Given the description of an element on the screen output the (x, y) to click on. 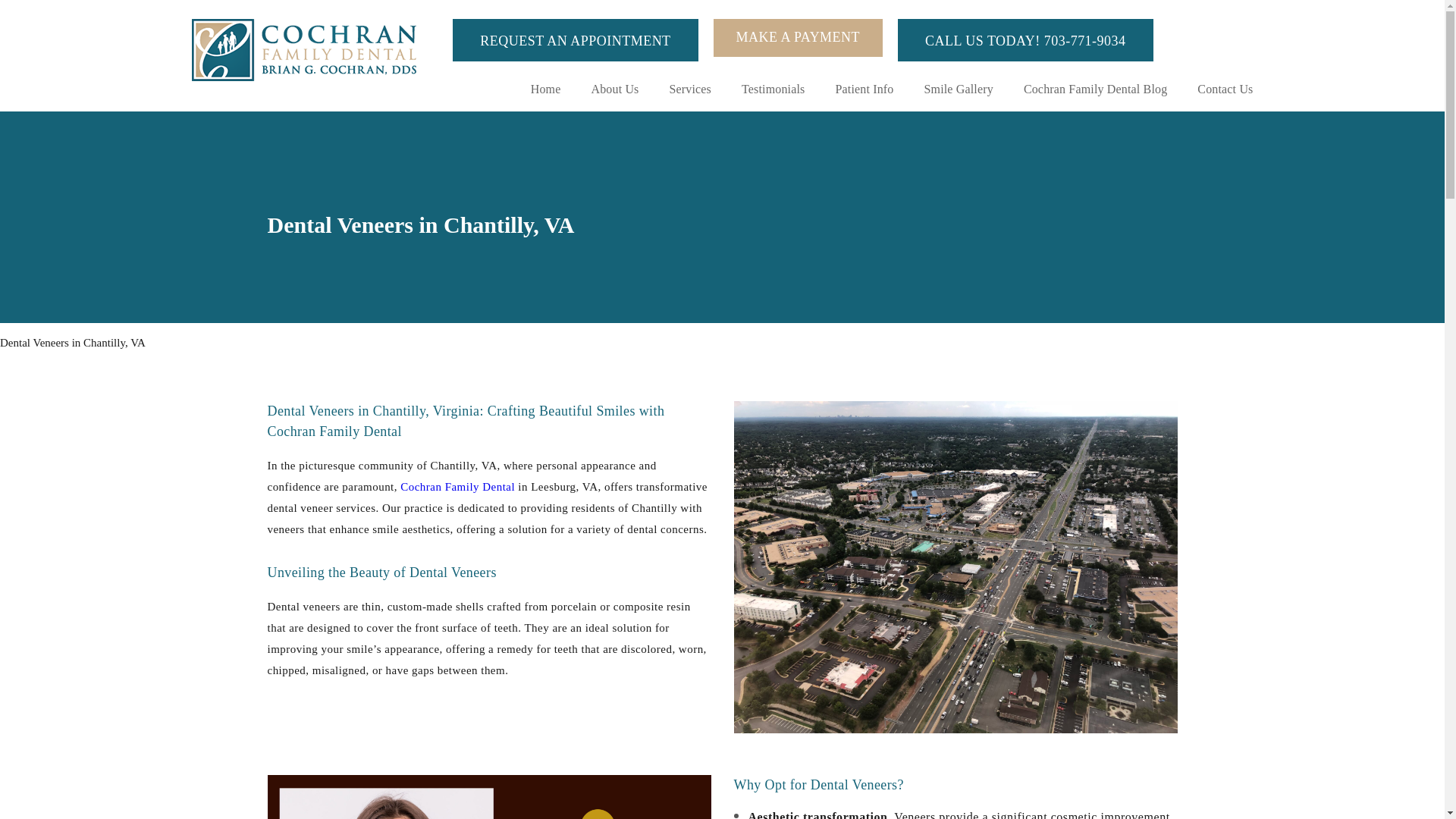
Yelp (1240, 37)
Services (689, 88)
Google Plus (1211, 37)
About Us (615, 88)
MAKE A PAYMENT (797, 37)
CALL US TODAY! 703-771-9034 (1025, 39)
MAKE A PAYMENT (797, 37)
REQUEST AN APPOINTMENT (574, 39)
Home (545, 88)
Facebook (1181, 37)
